Given the description of an element on the screen output the (x, y) to click on. 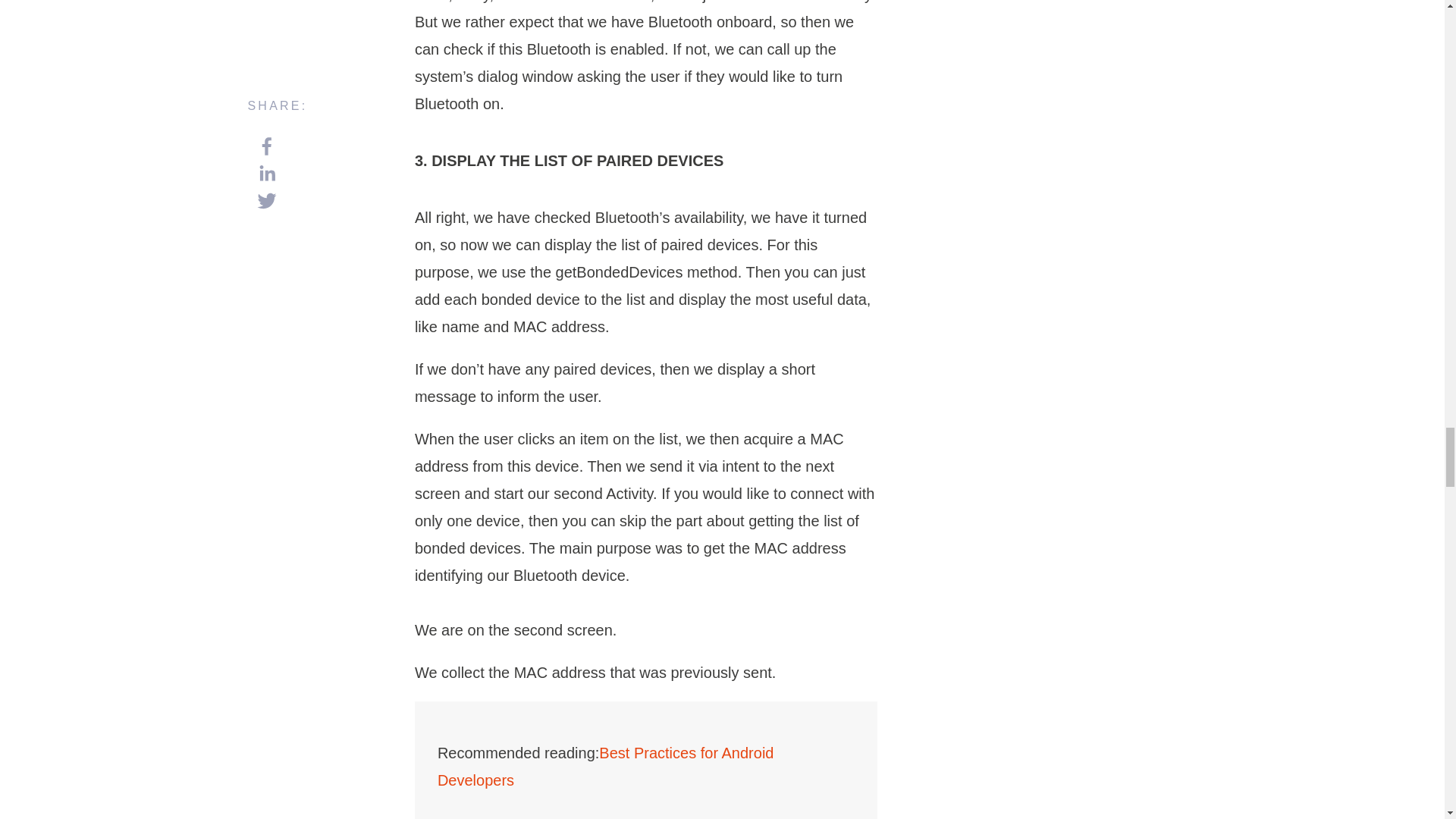
Best Practices for Android Developers (606, 766)
